Given the description of an element on the screen output the (x, y) to click on. 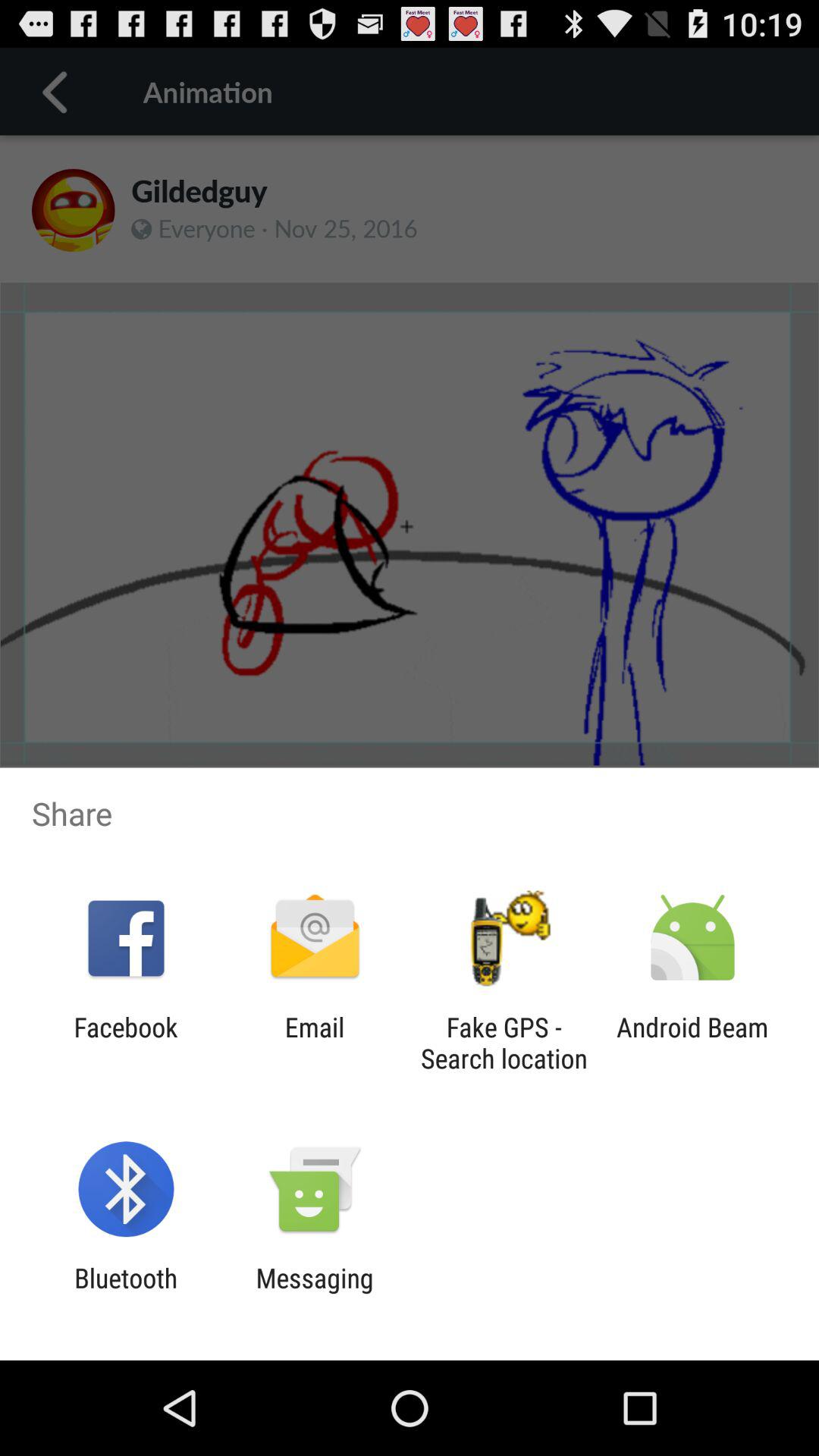
turn off the messaging app (314, 1293)
